Given the description of an element on the screen output the (x, y) to click on. 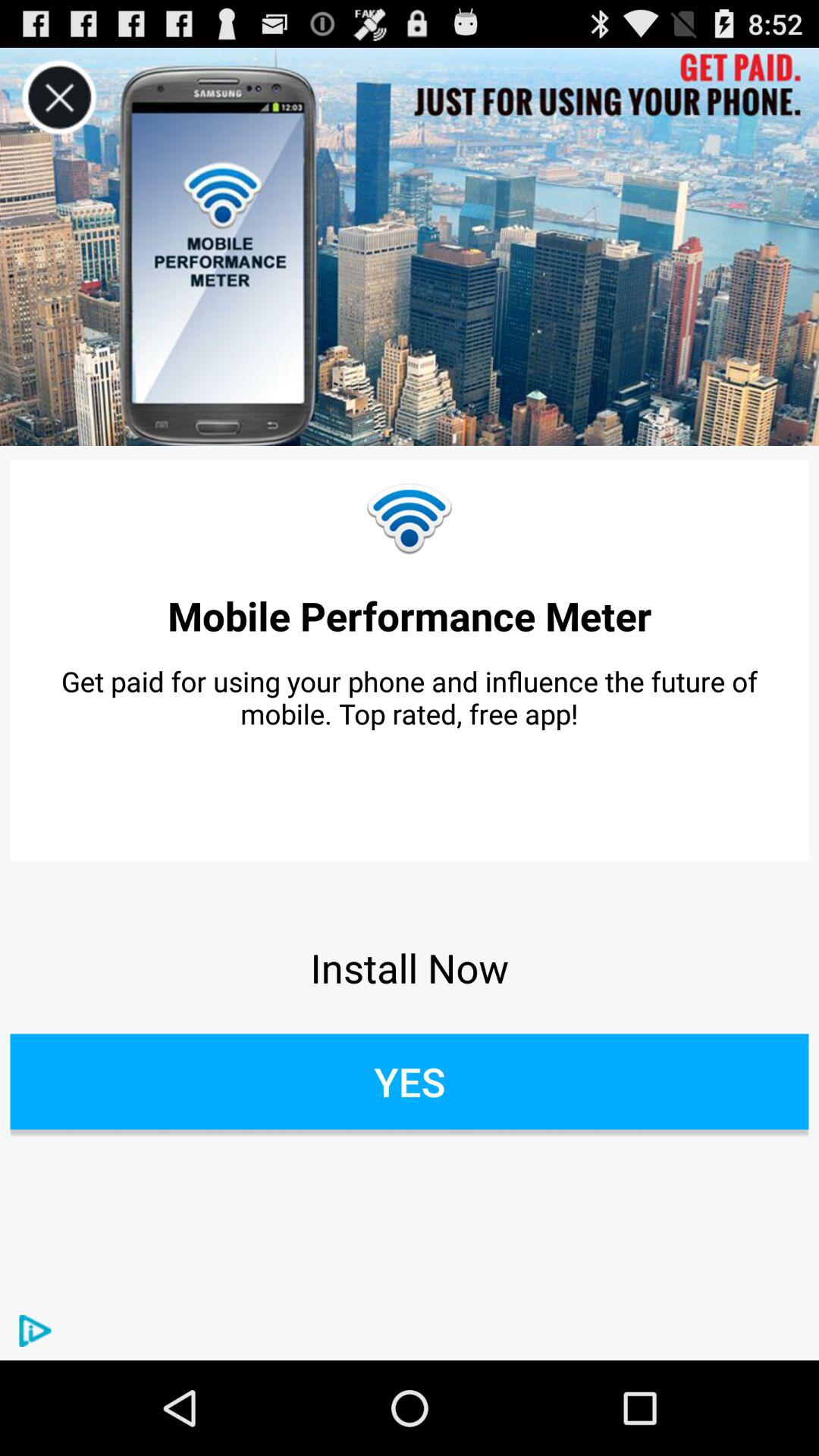
turn off button above the yes button (409, 967)
